Given the description of an element on the screen output the (x, y) to click on. 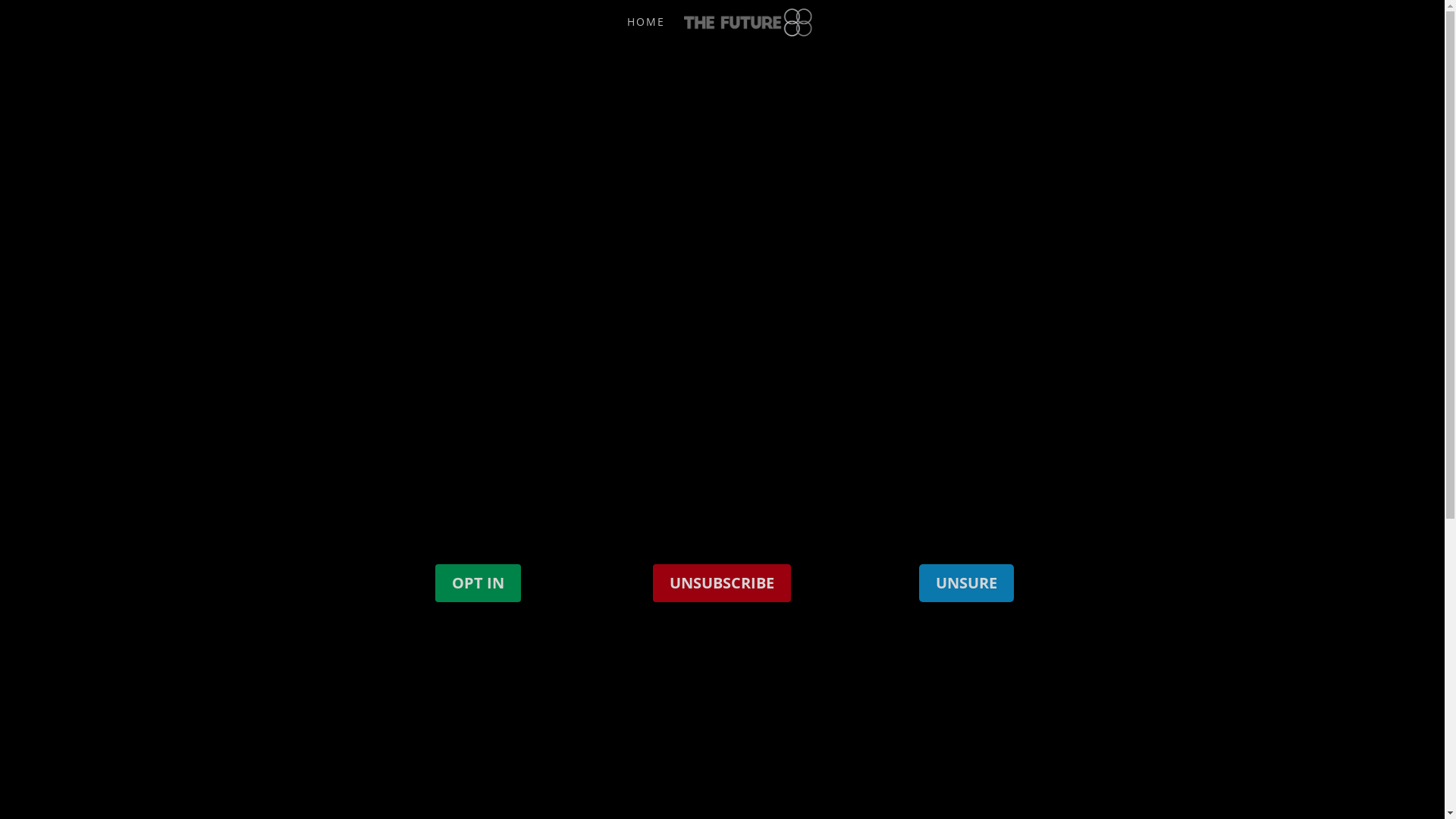
UNSURE Element type: text (966, 583)
HOME Element type: text (646, 29)
OPT IN Element type: text (477, 583)
UNSUBSCRIBE Element type: text (721, 583)
